Given the description of an element on the screen output the (x, y) to click on. 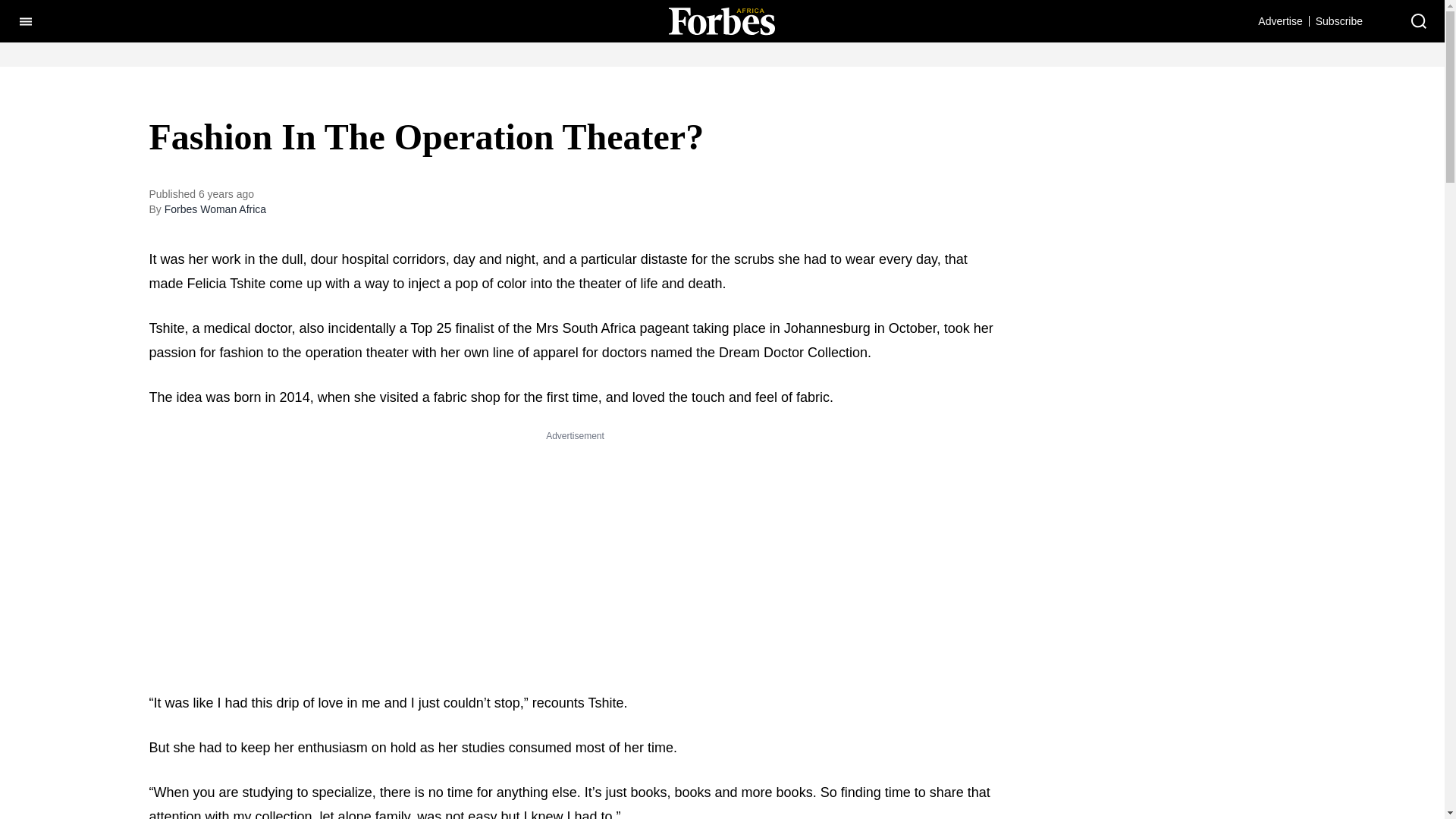
Forbes Africa (721, 20)
Advertise (1279, 20)
Forbes Woman Africa (215, 209)
Subscribe (1339, 20)
